Given the description of an element on the screen output the (x, y) to click on. 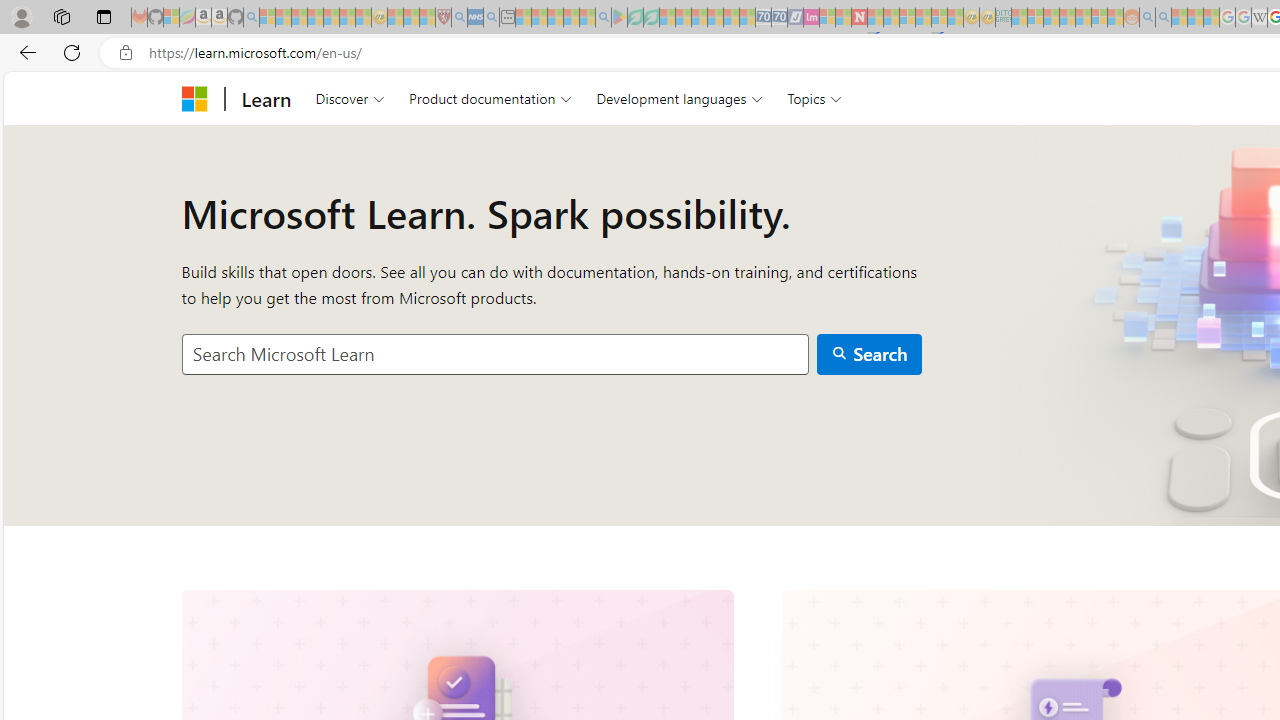
Learn (265, 98)
Target page - Wikipedia - Sleeping (1259, 17)
Topics (815, 98)
